Given the description of an element on the screen output the (x, y) to click on. 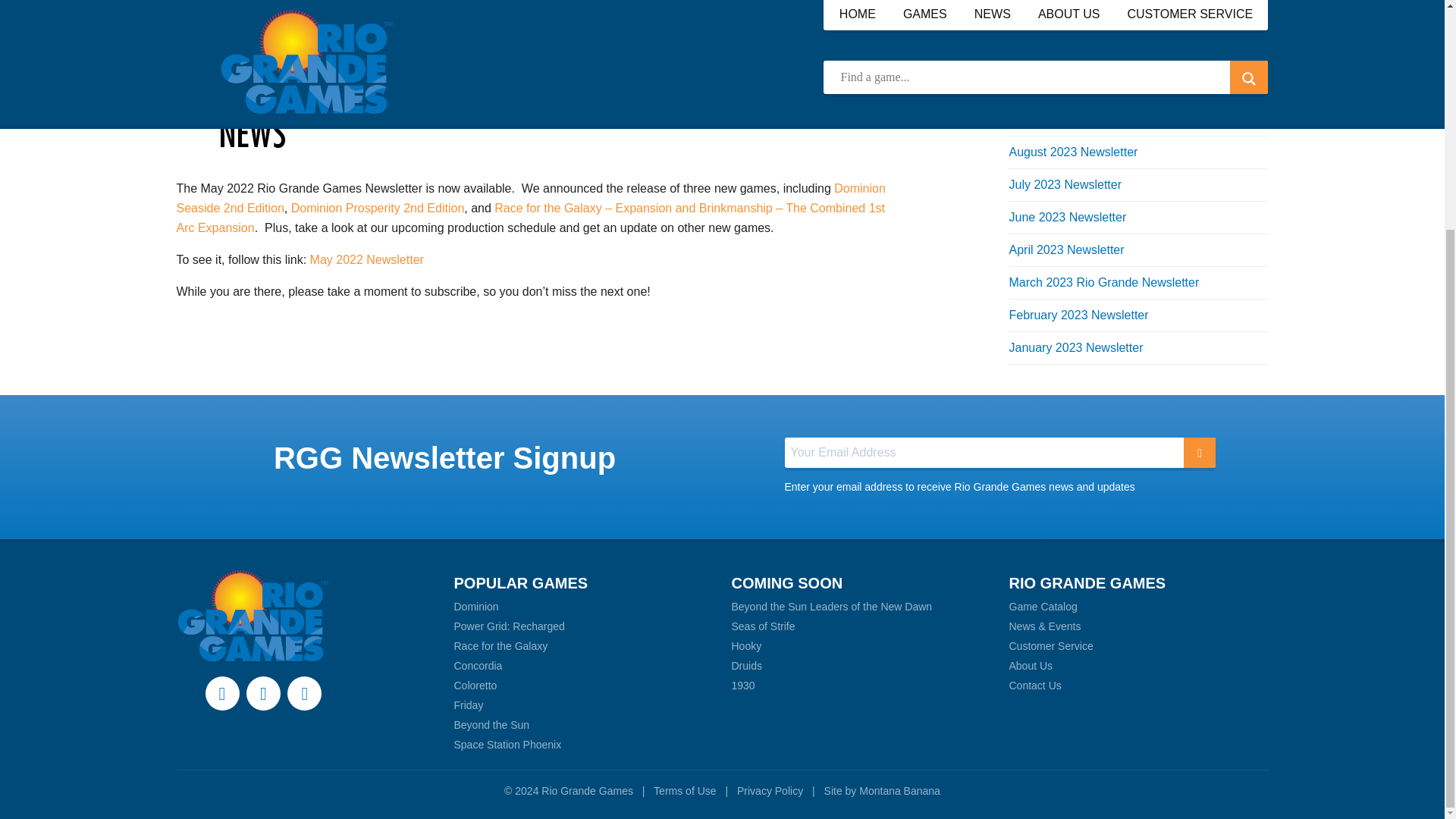
May 2022 Newsletter (366, 259)
Dominion Prosperity 2nd Edition (377, 207)
August 2023 Newsletter (1073, 151)
Dominion (474, 606)
April 2023 Newsletter (1066, 249)
Dominion Seaside 2nd Edition (530, 197)
Concordia (477, 665)
Power Grid: Recharged (508, 625)
February 2024 Newsletter (1078, 86)
Race for the Galaxy (499, 645)
March 2023 Rio Grande Newsletter (1103, 282)
January 2023 Newsletter (1075, 347)
April 2024 Newsletter (1066, 53)
June 2023 Newsletter (1067, 216)
Site by Montana Banana (882, 790)
